Given the description of an element on the screen output the (x, y) to click on. 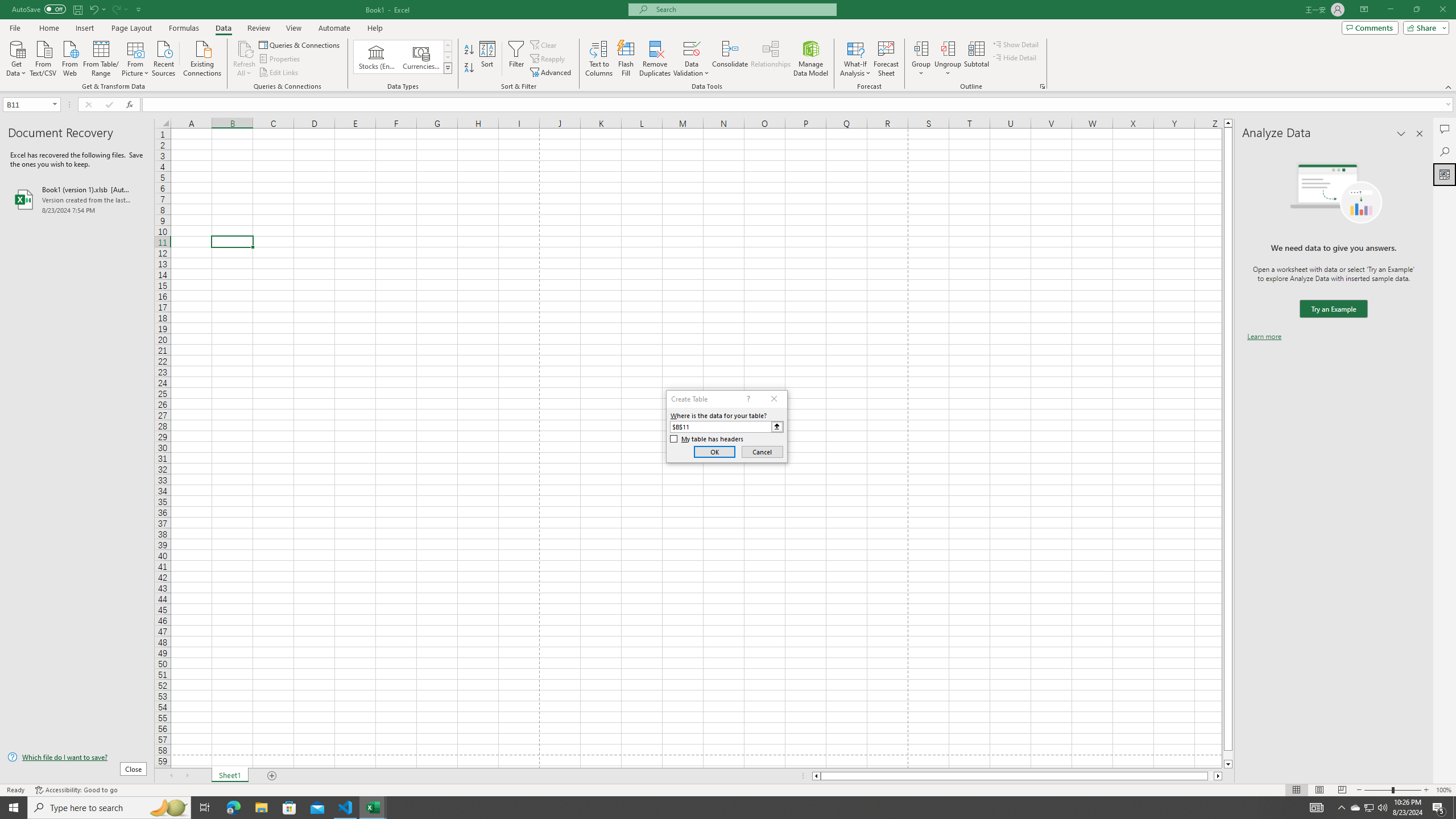
Data Types (448, 67)
From Web (69, 57)
Learn more (1264, 336)
From Text/CSV (43, 57)
